Given the description of an element on the screen output the (x, y) to click on. 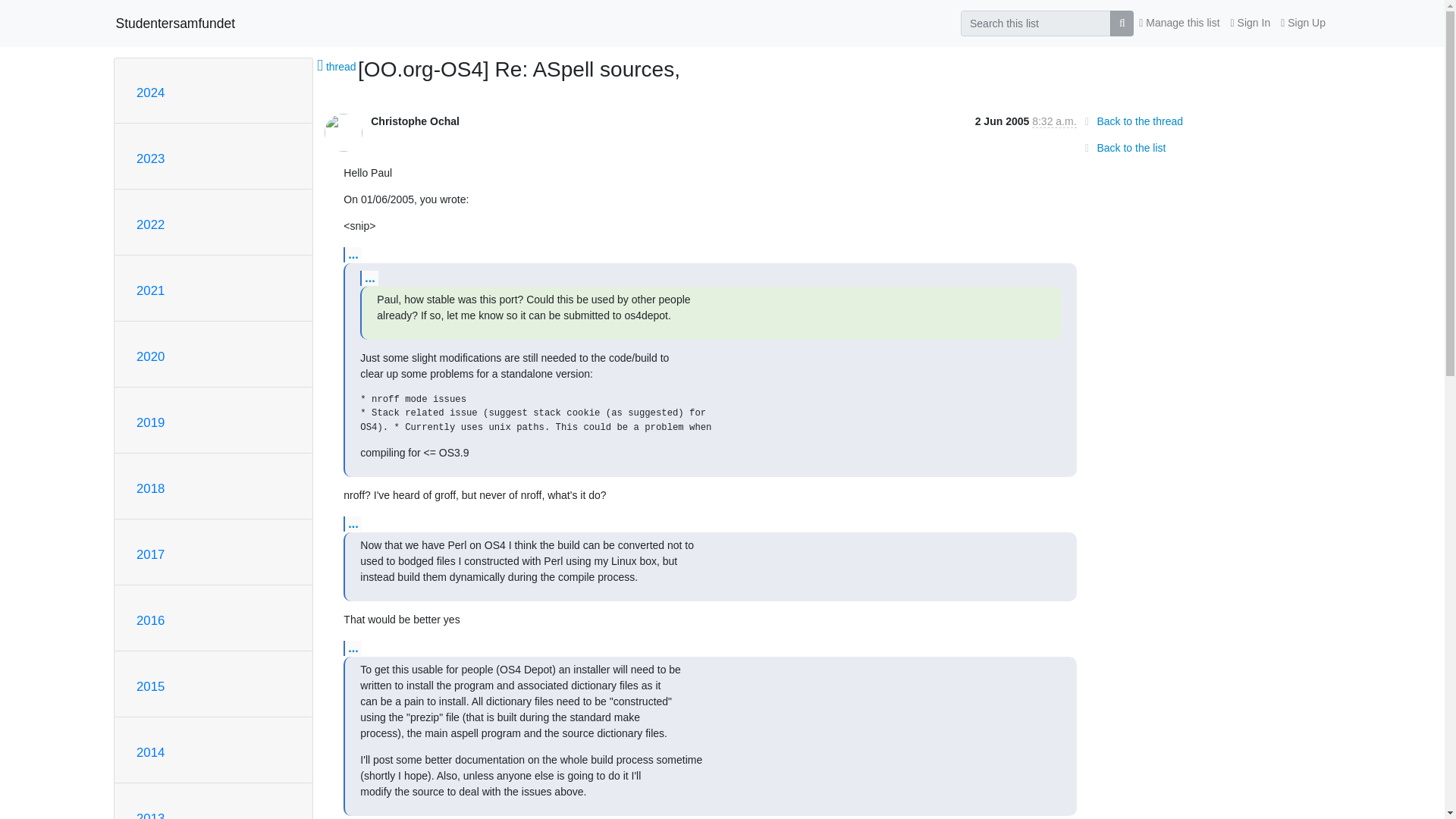
Studentersamfundet (174, 22)
2023 (150, 158)
Sign Up (1302, 22)
Sender's time: June 2, 2005, 7:32 a.m. (1053, 121)
2024 (150, 92)
2022 (150, 224)
Manage this list (1179, 22)
Sign In (1250, 22)
